Given the description of an element on the screen output the (x, y) to click on. 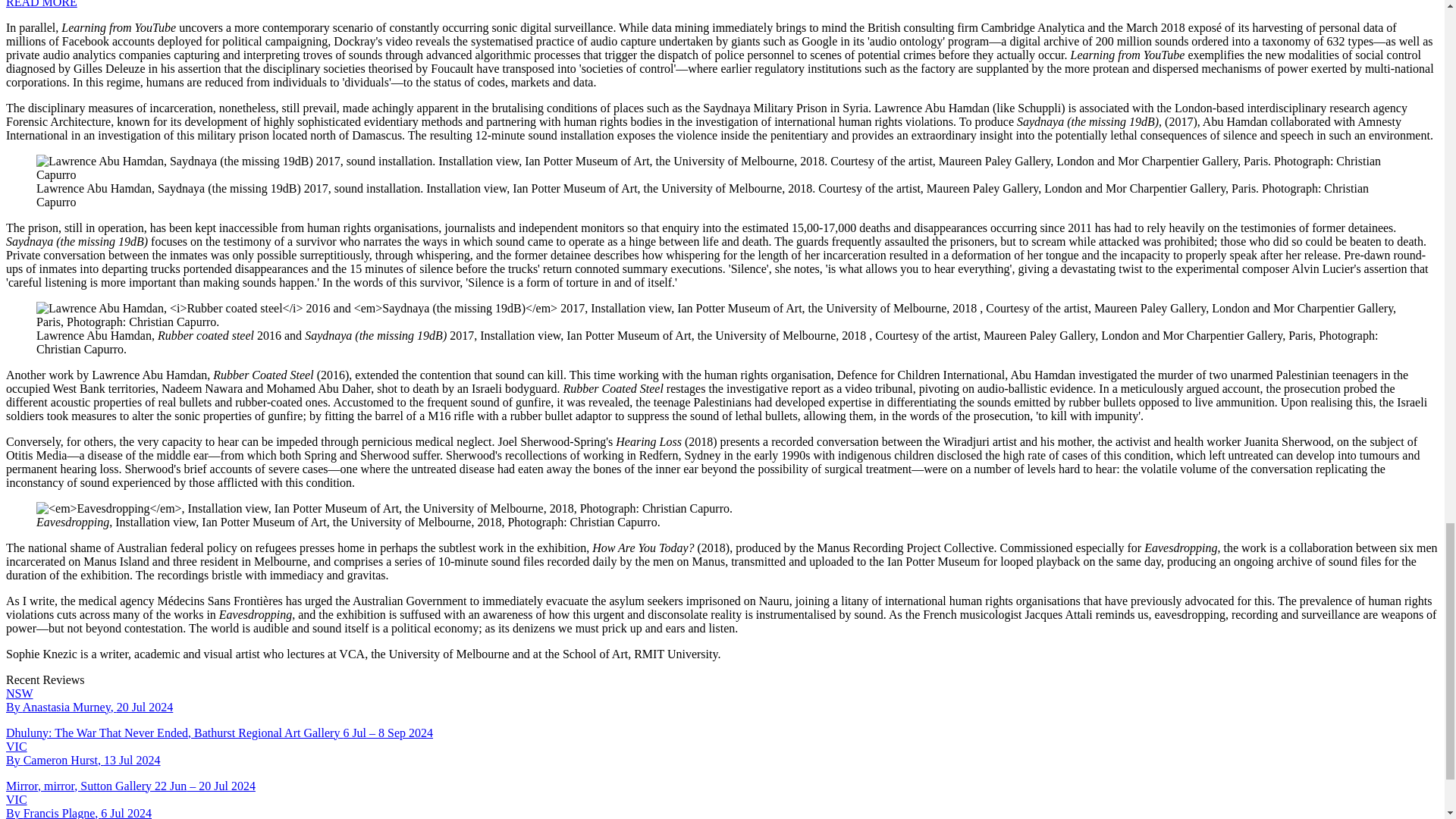
READ MORE (41, 4)
